Given the description of an element on the screen output the (x, y) to click on. 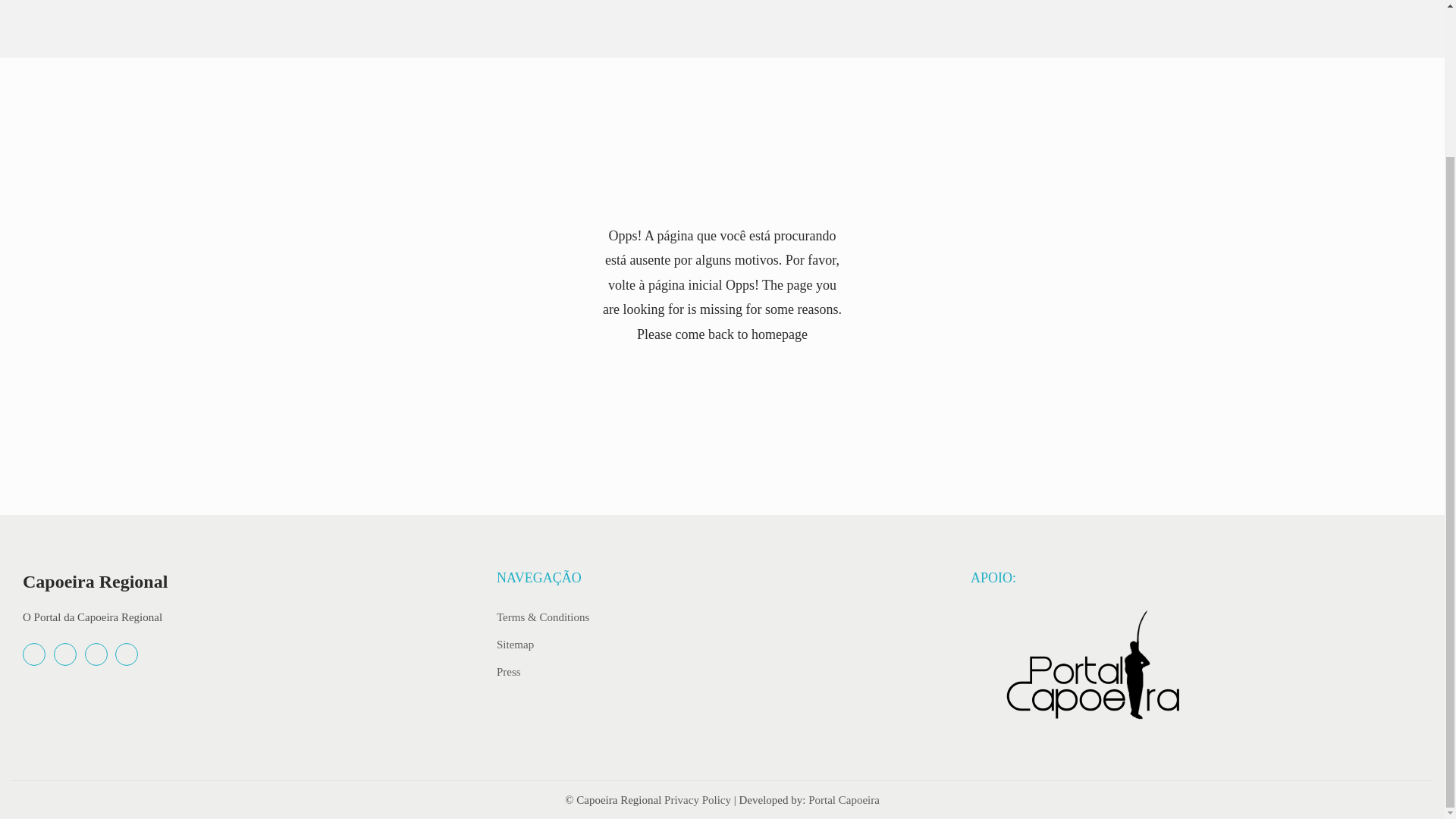
Portal Capoeira (843, 799)
Sitemap (515, 644)
Press (508, 671)
Privacy Policy (696, 799)
